Given the description of an element on the screen output the (x, y) to click on. 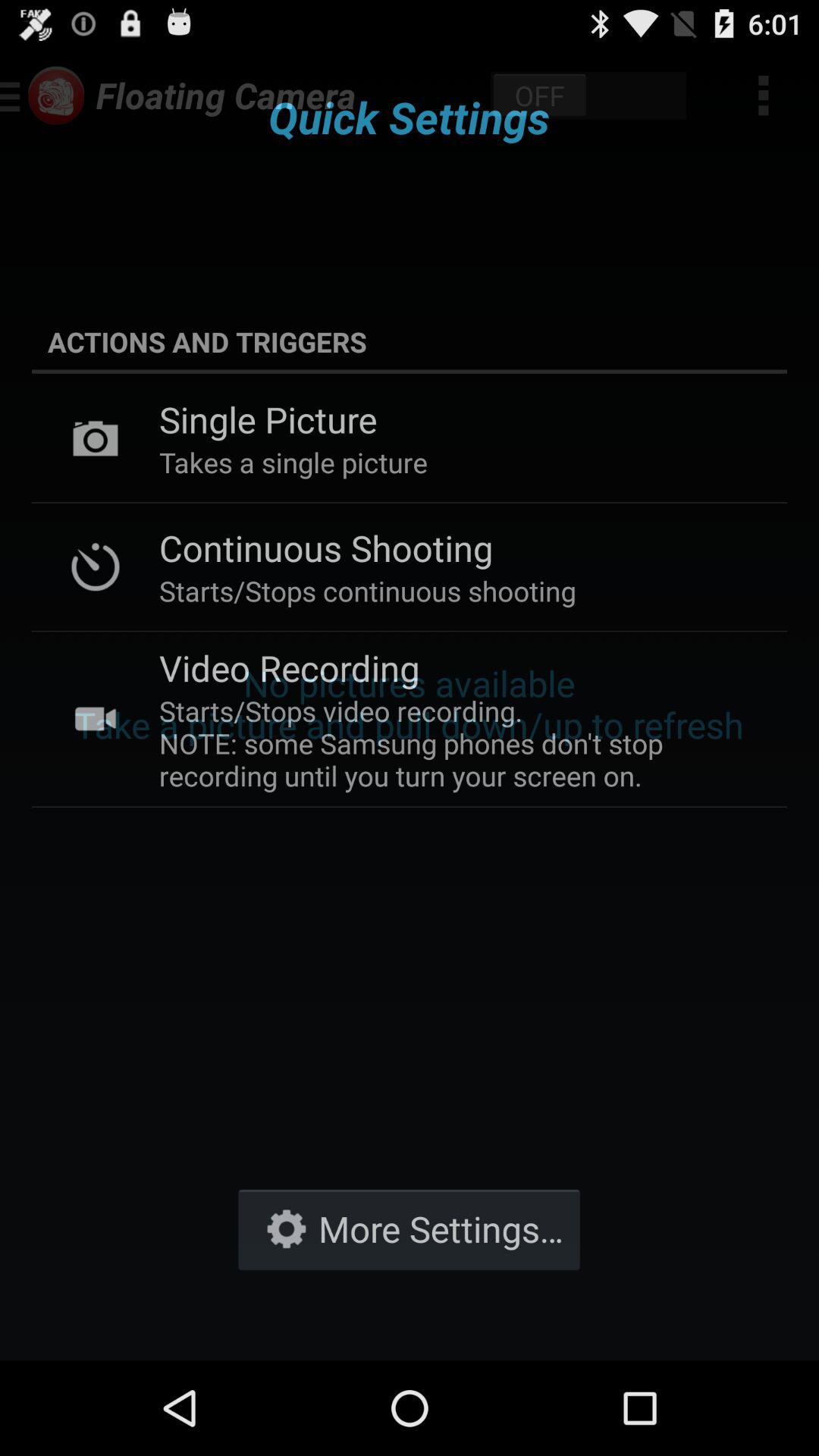
click item below single picture icon (293, 462)
